Given the description of an element on the screen output the (x, y) to click on. 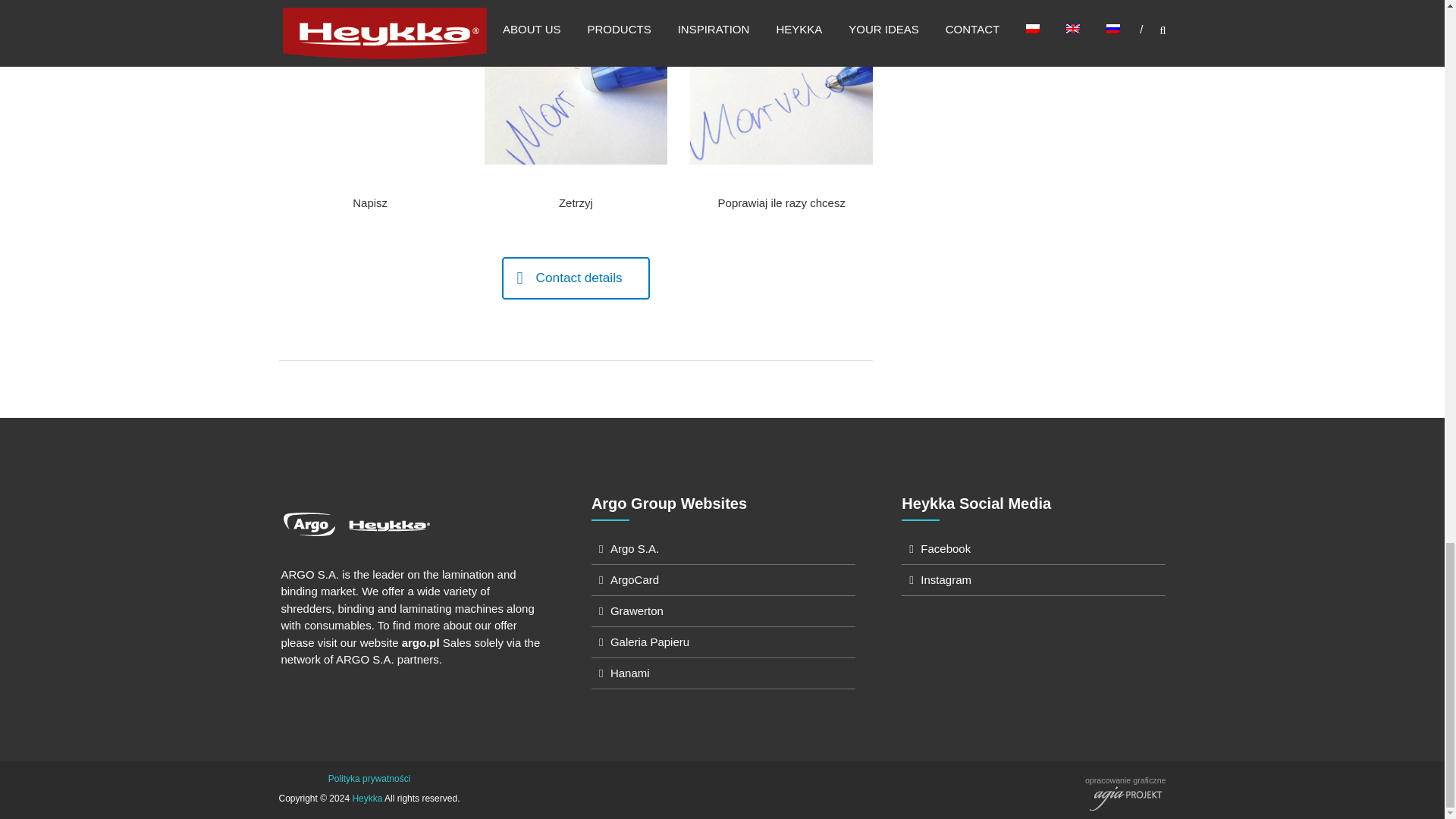
opracowanie graficzne (1125, 788)
Facebook (945, 548)
Galeria Papieru (649, 641)
Contact details (575, 278)
Grawerton (636, 610)
Hanami (629, 672)
Instagram (945, 579)
Heykka (366, 798)
Argo S.A. (634, 548)
argo.pl (420, 642)
